Given the description of an element on the screen output the (x, y) to click on. 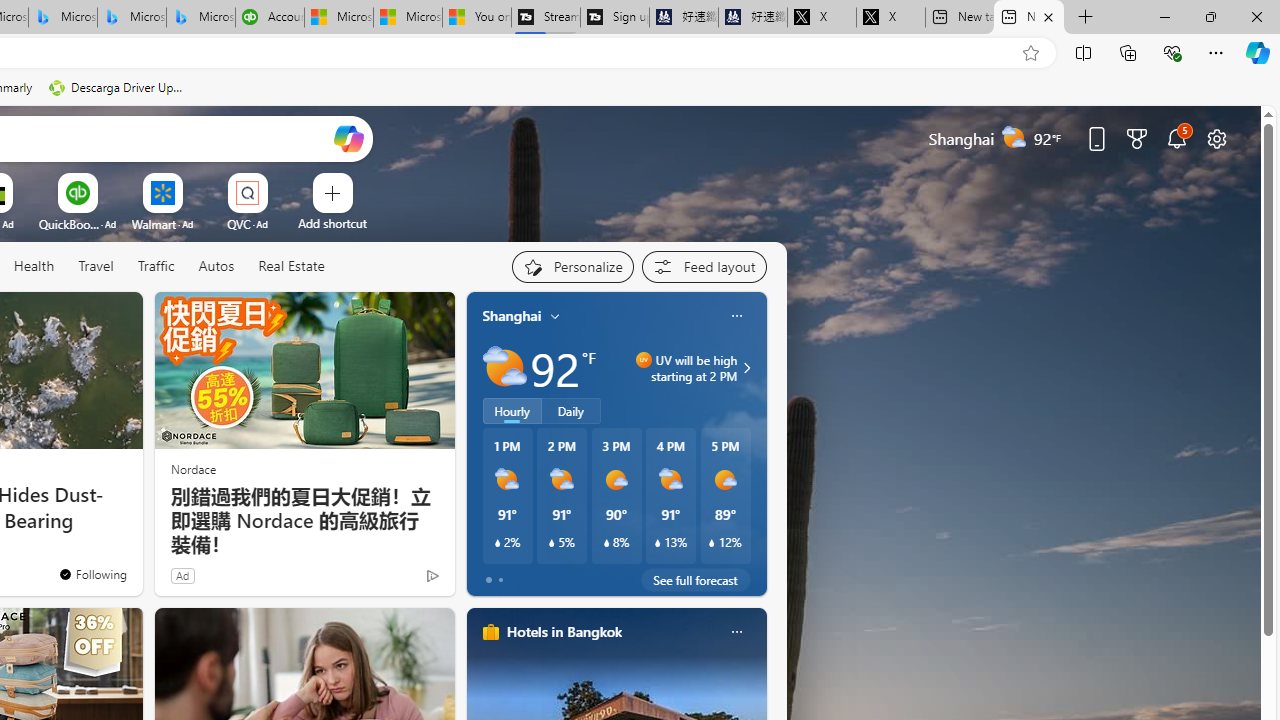
Autos (216, 267)
Notifications (1176, 138)
Accounting Software for Accountants, CPAs and Bookkeepers (269, 17)
Descarga Driver Updater (118, 88)
My location (555, 315)
Microsoft Bing Travel - Shangri-La Hotel Bangkok (200, 17)
